Given the description of an element on the screen output the (x, y) to click on. 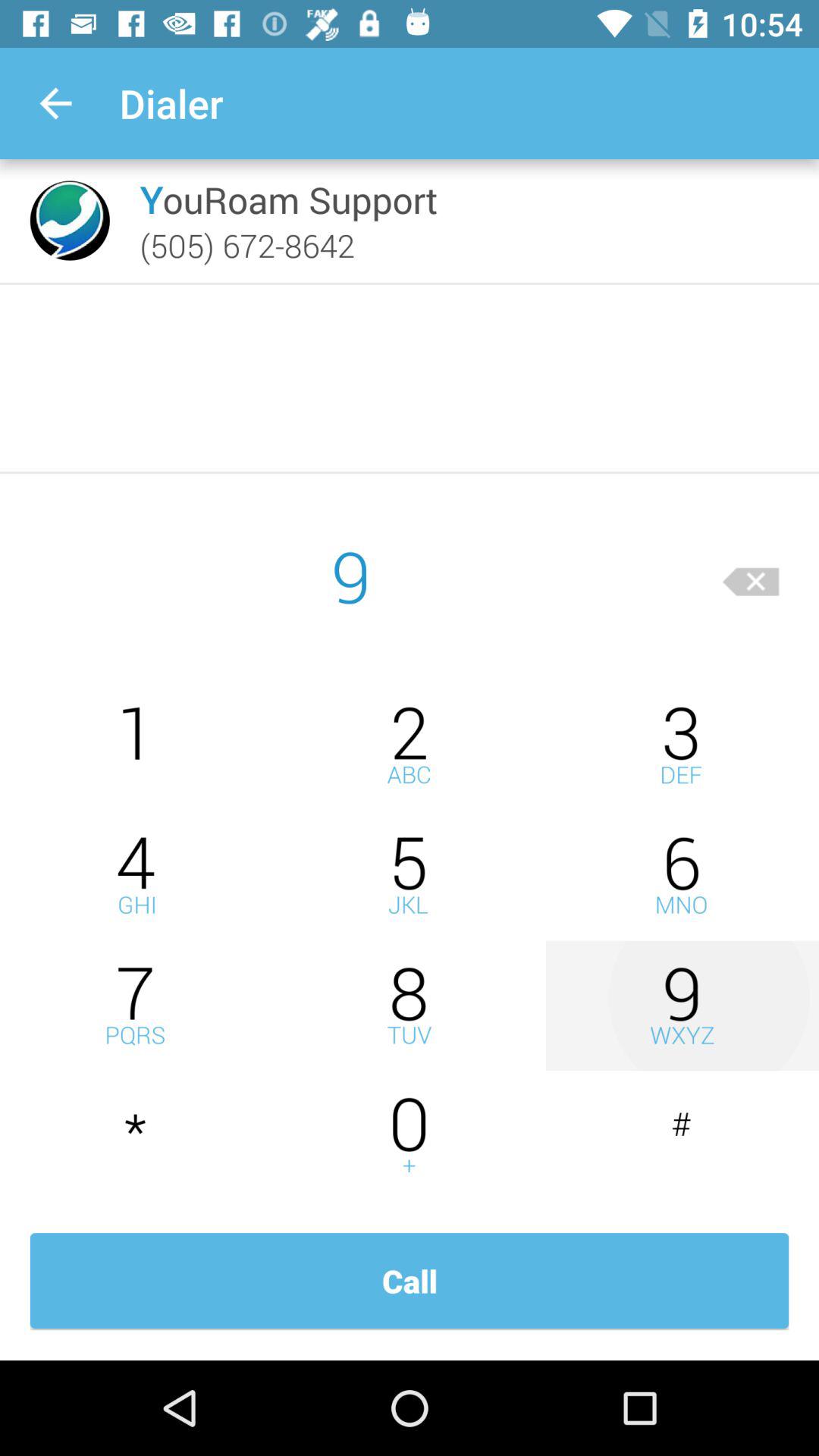
turn off youroam support (288, 199)
